Given the description of an element on the screen output the (x, y) to click on. 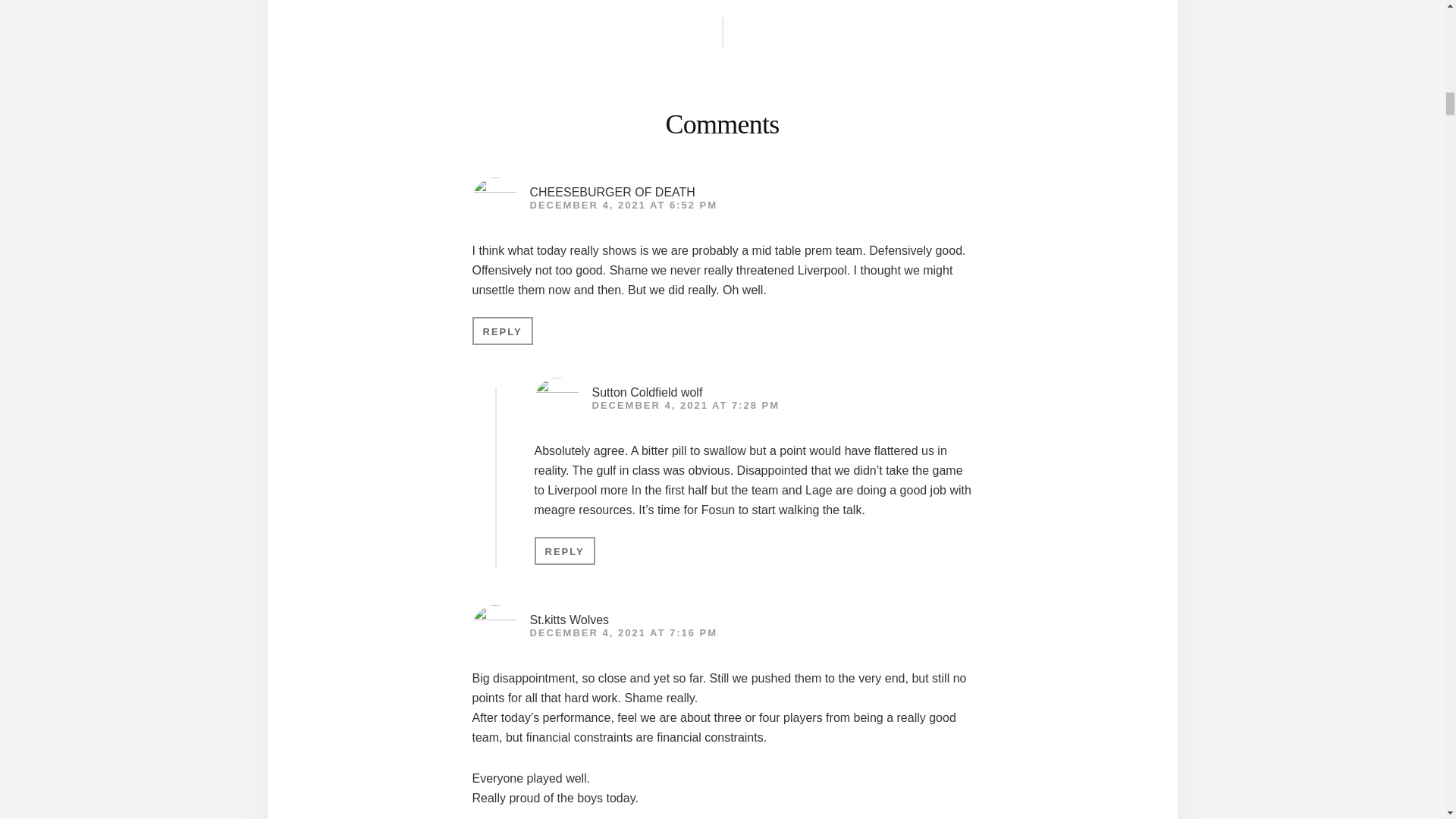
REPLY (564, 551)
DECEMBER 4, 2021 AT 7:16 PM (623, 632)
REPLY (501, 330)
DECEMBER 4, 2021 AT 6:52 PM (623, 204)
DECEMBER 4, 2021 AT 7:28 PM (684, 405)
